Given the description of an element on the screen output the (x, y) to click on. 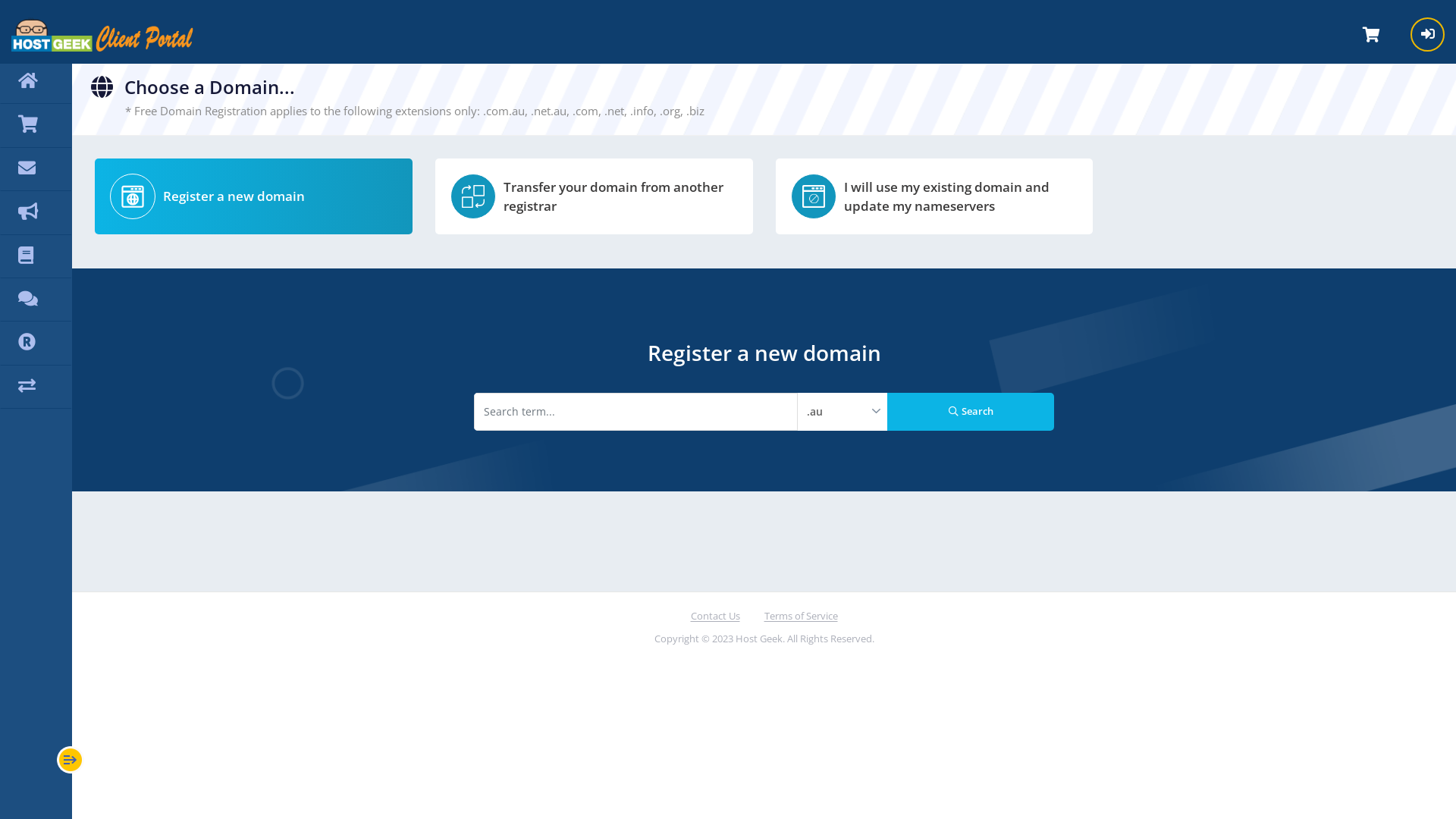
I will use my existing domain and update my nameservers Element type: text (934, 201)
Contact Us Element type: text (714, 616)
Transfer your domain from another registrar Element type: text (593, 201)
0 Element type: text (1371, 33)
Terms of Service Element type: text (800, 616)
Search Element type: text (970, 411)
Register a new domain Element type: text (253, 201)
Please enter your domain Element type: hover (635, 411)
